Given the description of an element on the screen output the (x, y) to click on. 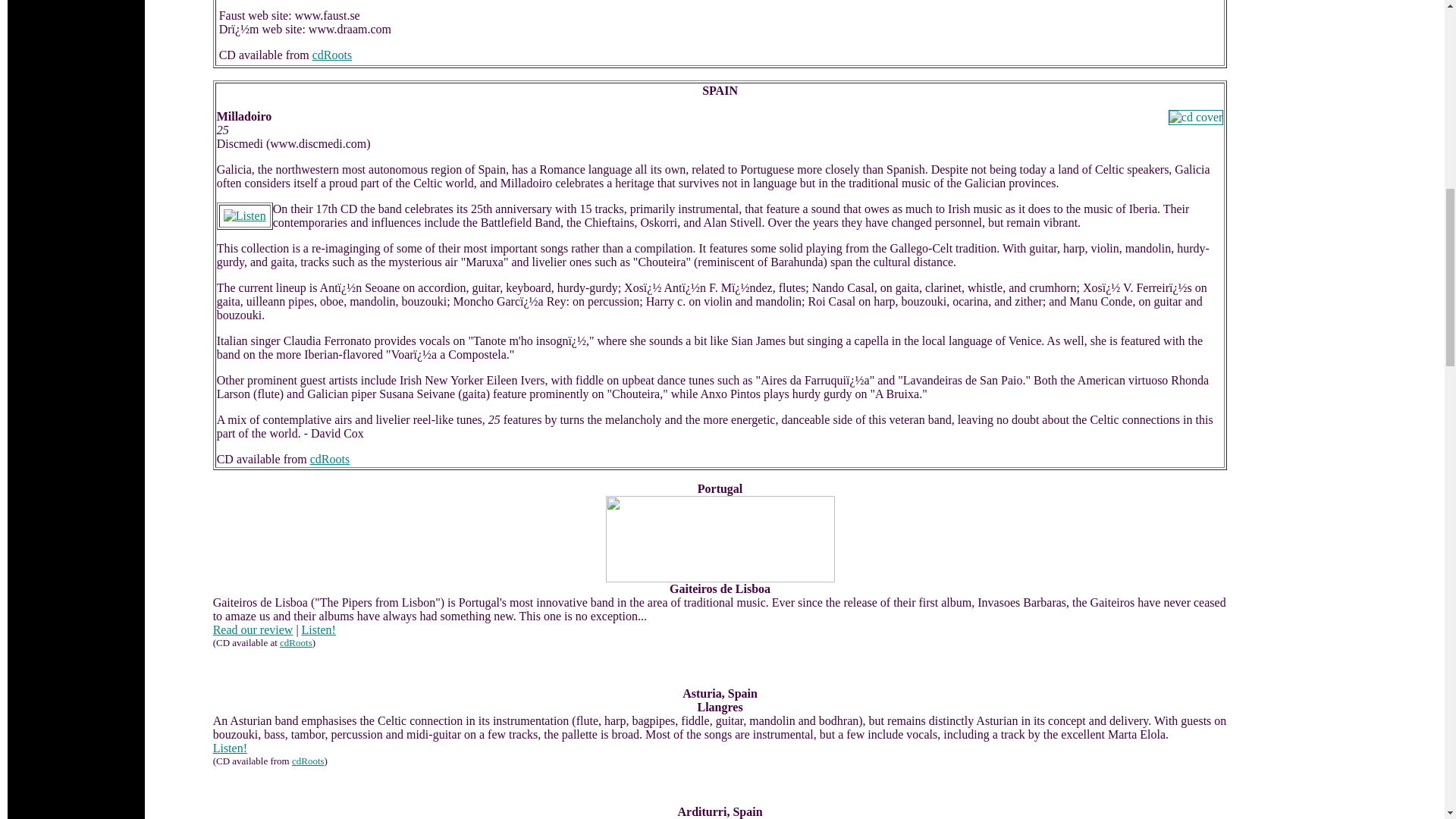
Listen! (229, 748)
cdRoots (332, 54)
cdRoots (308, 760)
Read our review (253, 629)
Listen! (318, 629)
cdRoots (329, 459)
cdRoots (296, 642)
